Given the description of an element on the screen output the (x, y) to click on. 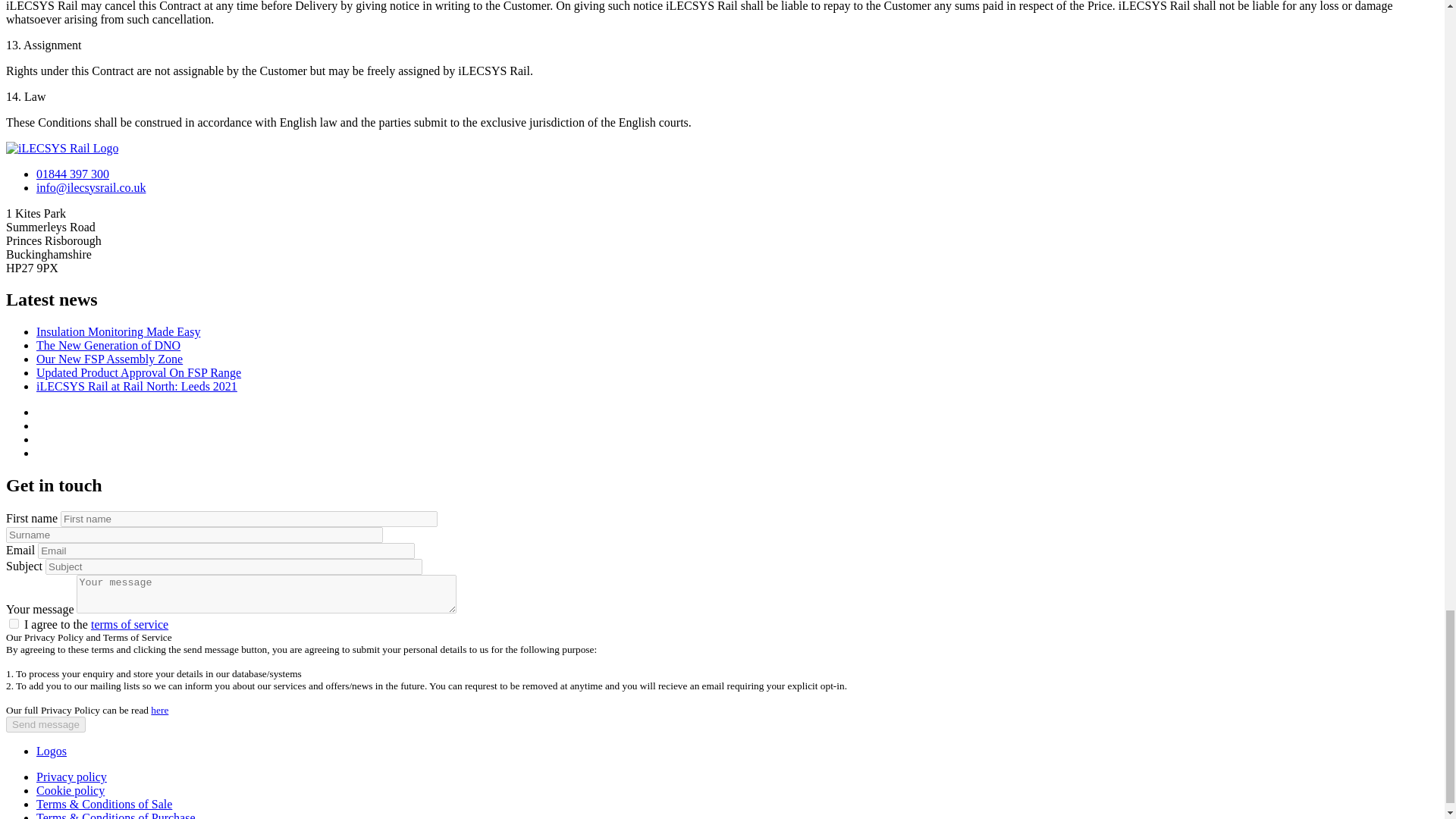
Send message (45, 724)
Insulation Monitoring Made Easy (118, 331)
01844 397 300 (72, 173)
